Given the description of an element on the screen output the (x, y) to click on. 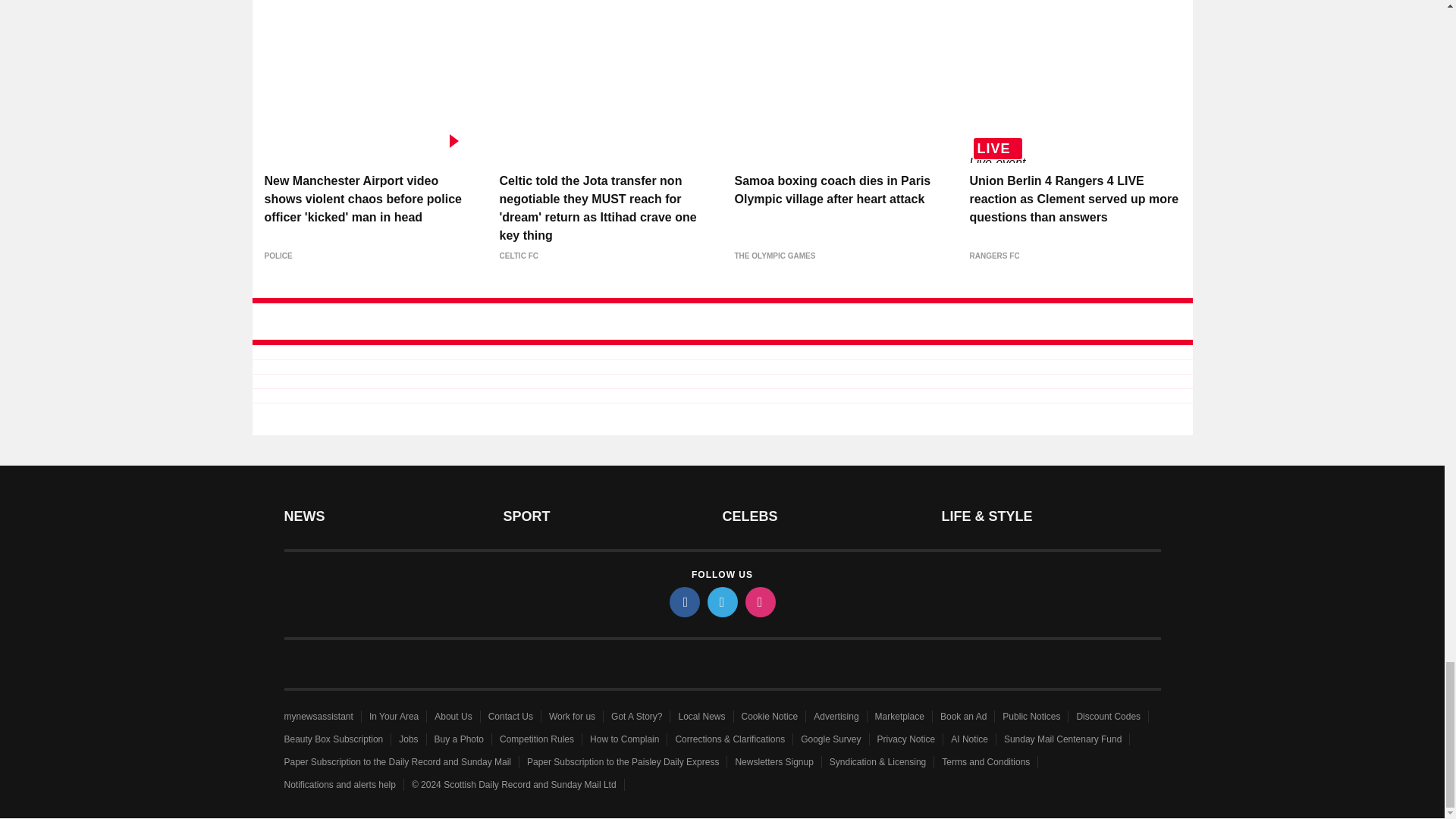
facebook (683, 602)
twitter (721, 602)
instagram (759, 602)
